Given the description of an element on the screen output the (x, y) to click on. 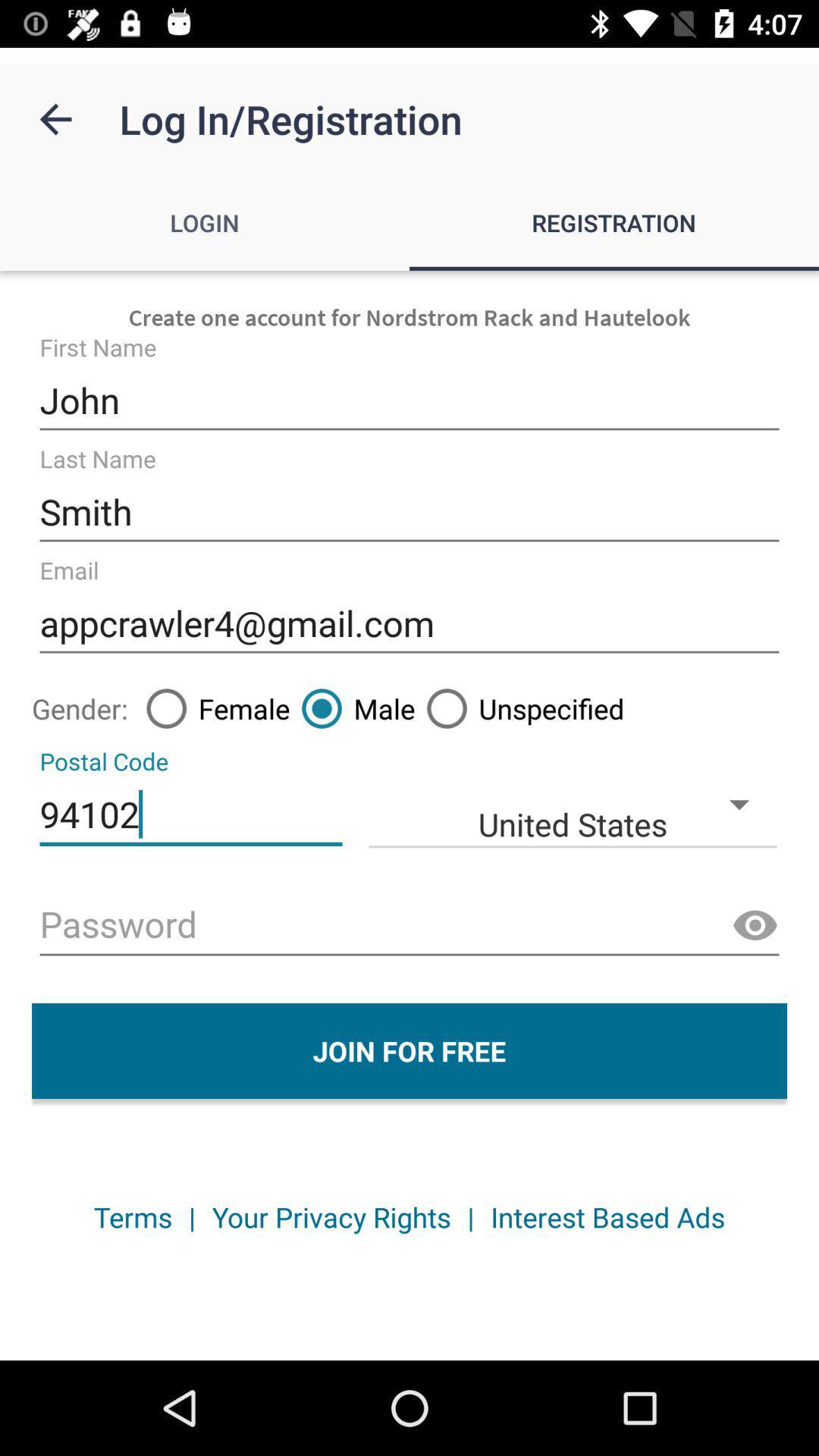
toggle 'show password (755, 925)
